Given the description of an element on the screen output the (x, y) to click on. 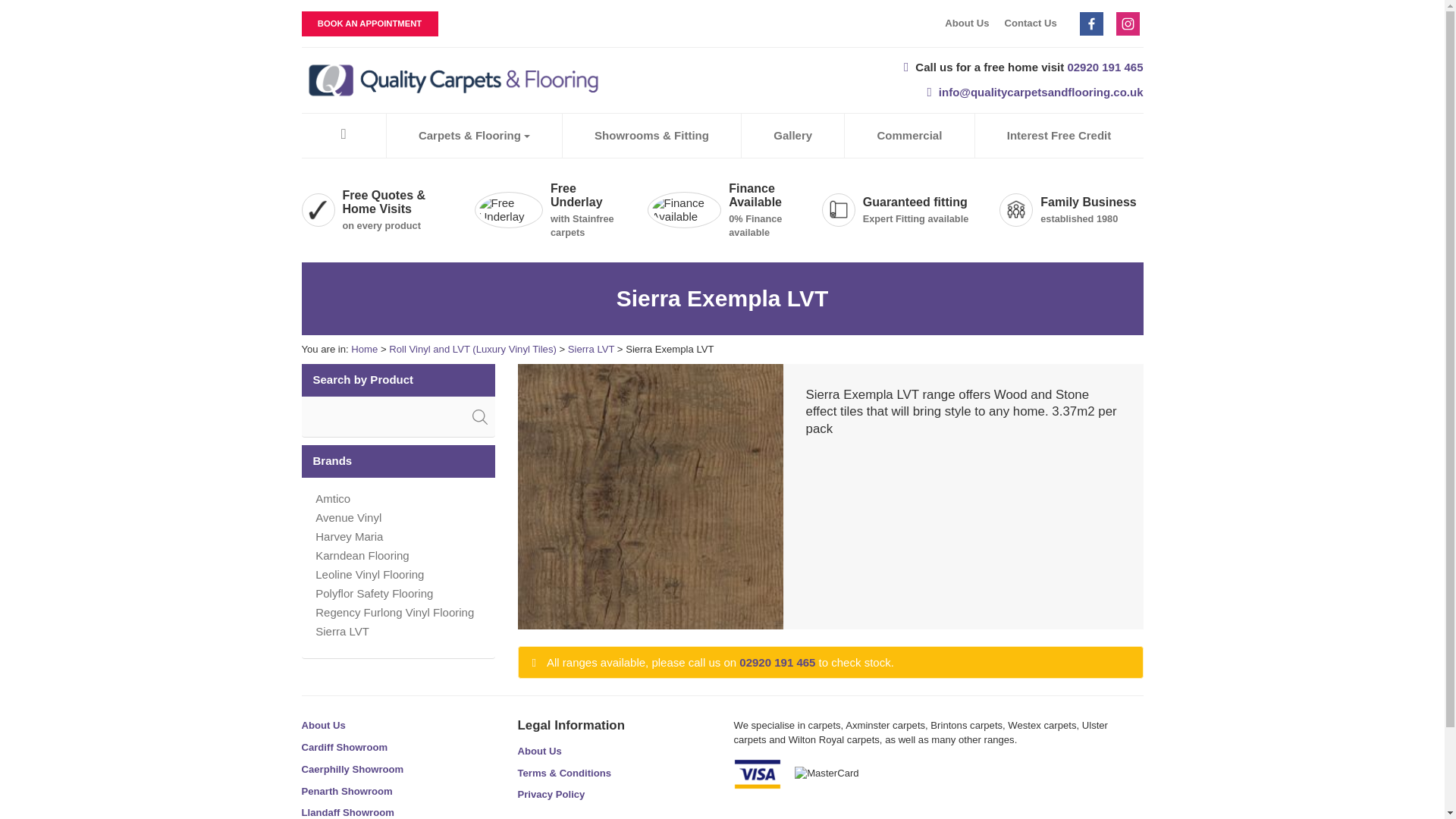
Gallery (793, 135)
Commercial (909, 135)
02920 191 465 (1104, 66)
Contact Us (1030, 22)
Home (363, 348)
Interest Free Credit (1059, 135)
About Us (966, 22)
Sierra LVT (590, 348)
BOOK AN APPOINTMENT (369, 23)
Search by Product (398, 380)
